Given the description of an element on the screen output the (x, y) to click on. 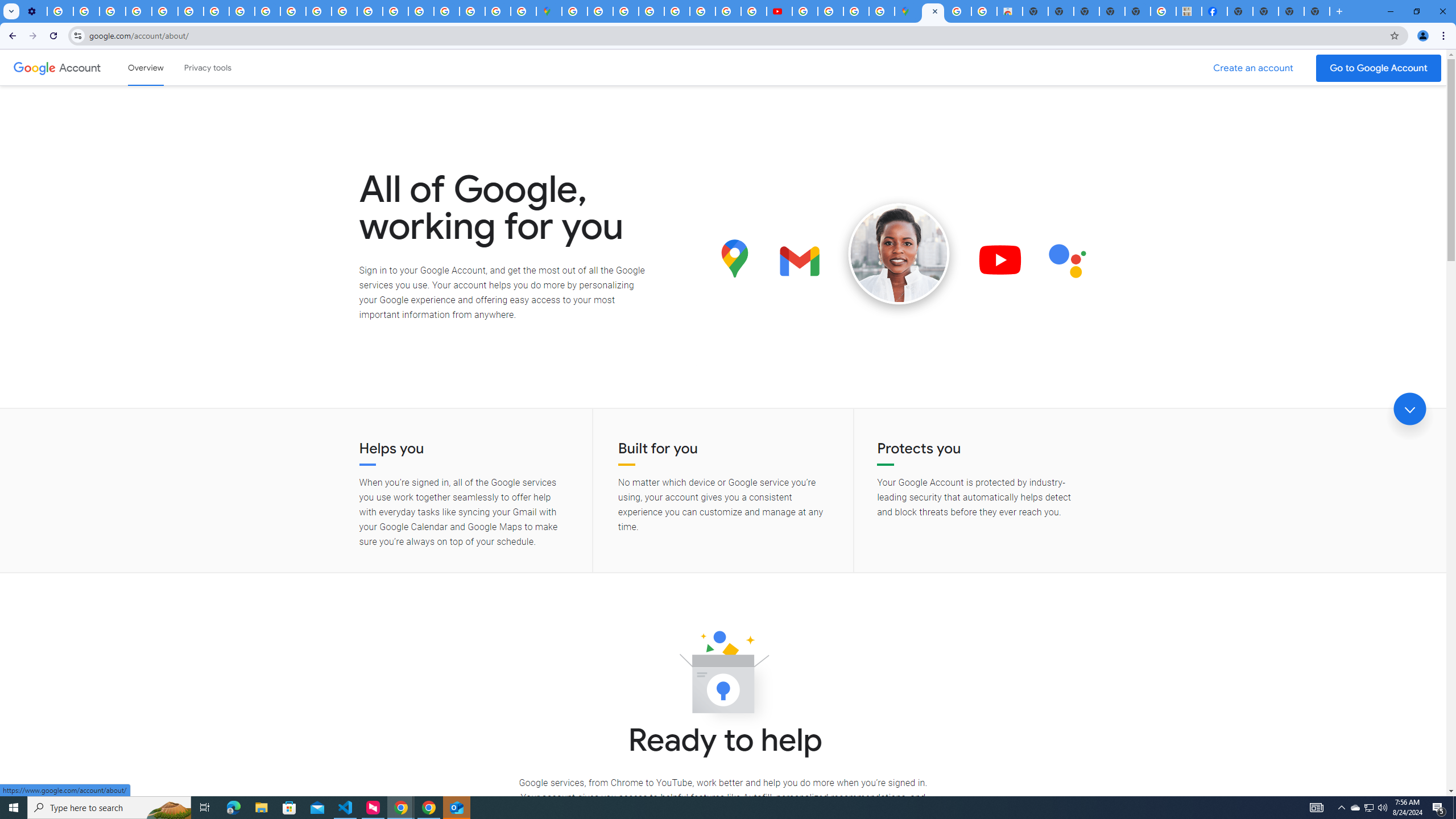
Chrome Web Store - Shopping (1009, 11)
Privacy tools (207, 67)
Privacy Help Center - Policies Help (165, 11)
Skip to Content (162, 65)
Search tabs (10, 11)
New Tab (1338, 11)
Google Account overview (145, 67)
https://scholar.google.com/ (318, 11)
